Given the description of an element on the screen output the (x, y) to click on. 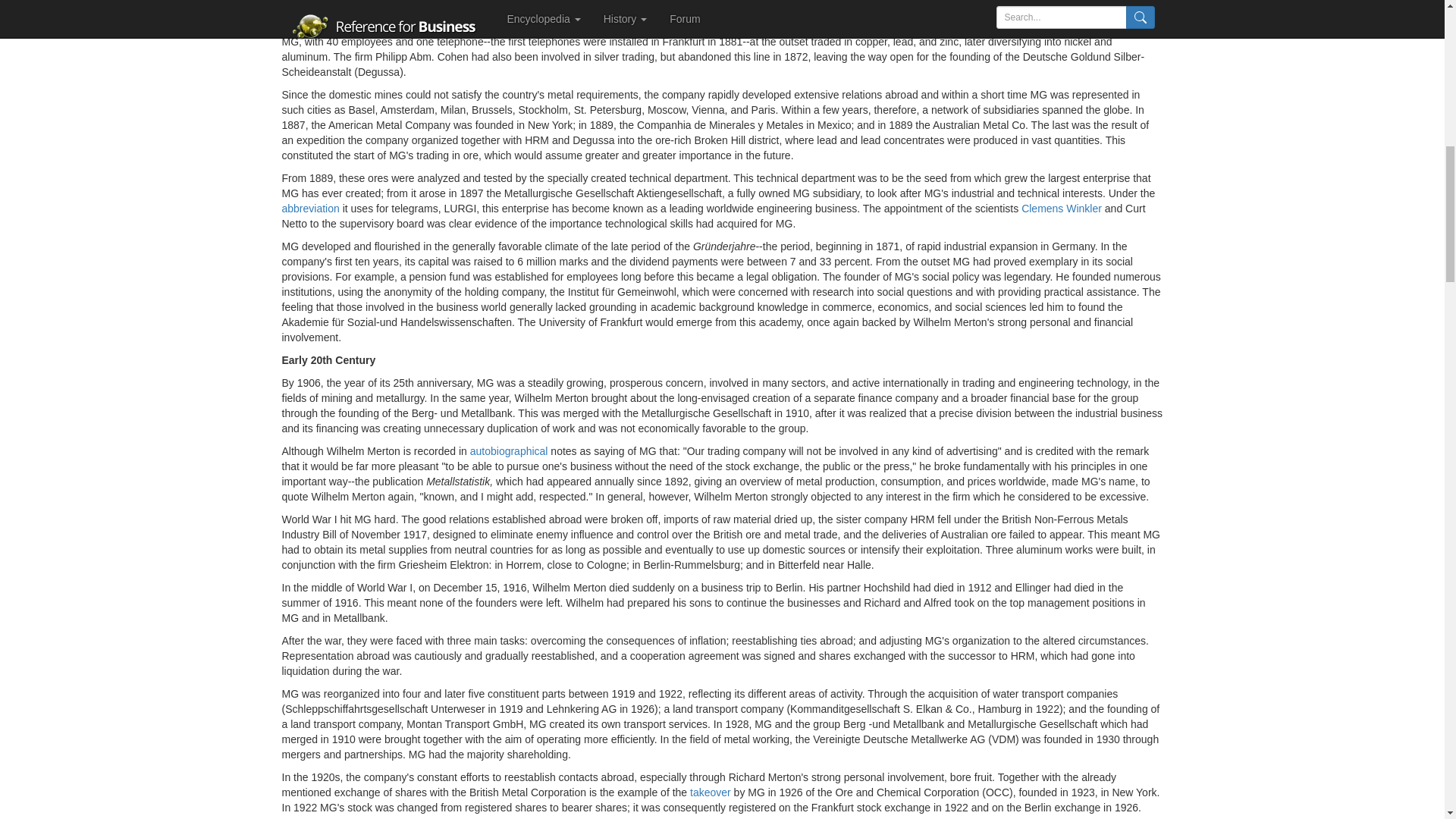
View 'abbreviation' definition from Wikipedia (310, 208)
View 'autobiographical' definition from Wikipedia (509, 451)
autobiographical (509, 451)
abbreviation (310, 208)
View 'clemens winkler' definition from Wikipedia (1062, 208)
View 'takeover' definition from Wikipedia (710, 792)
takeover (710, 792)
Clemens Winkler (1062, 208)
